Given the description of an element on the screen output the (x, y) to click on. 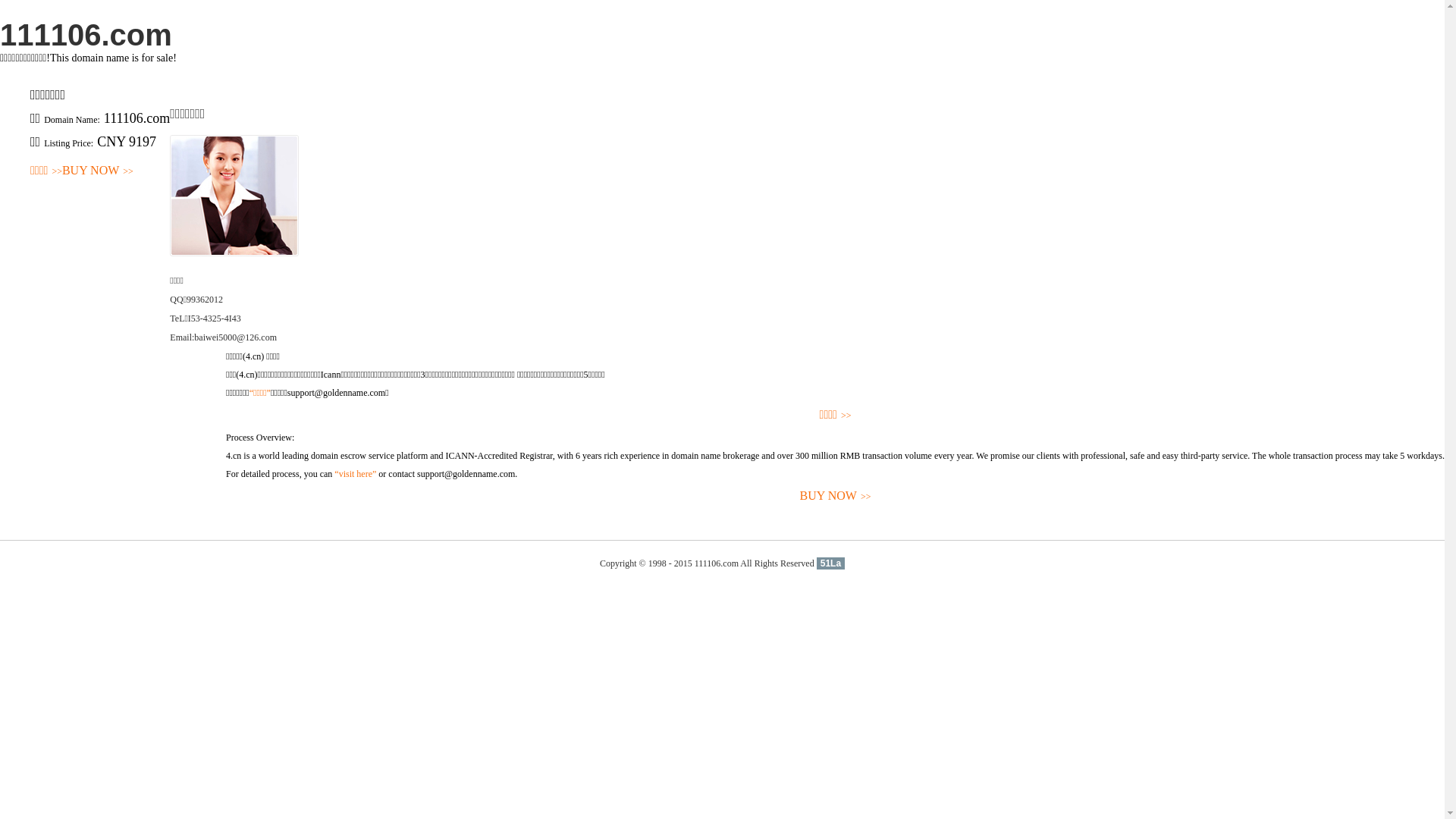
BUY NOW>> Element type: text (834, 496)
51La Element type: text (830, 563)
BUY NOW>> Element type: text (97, 170)
